Given the description of an element on the screen output the (x, y) to click on. 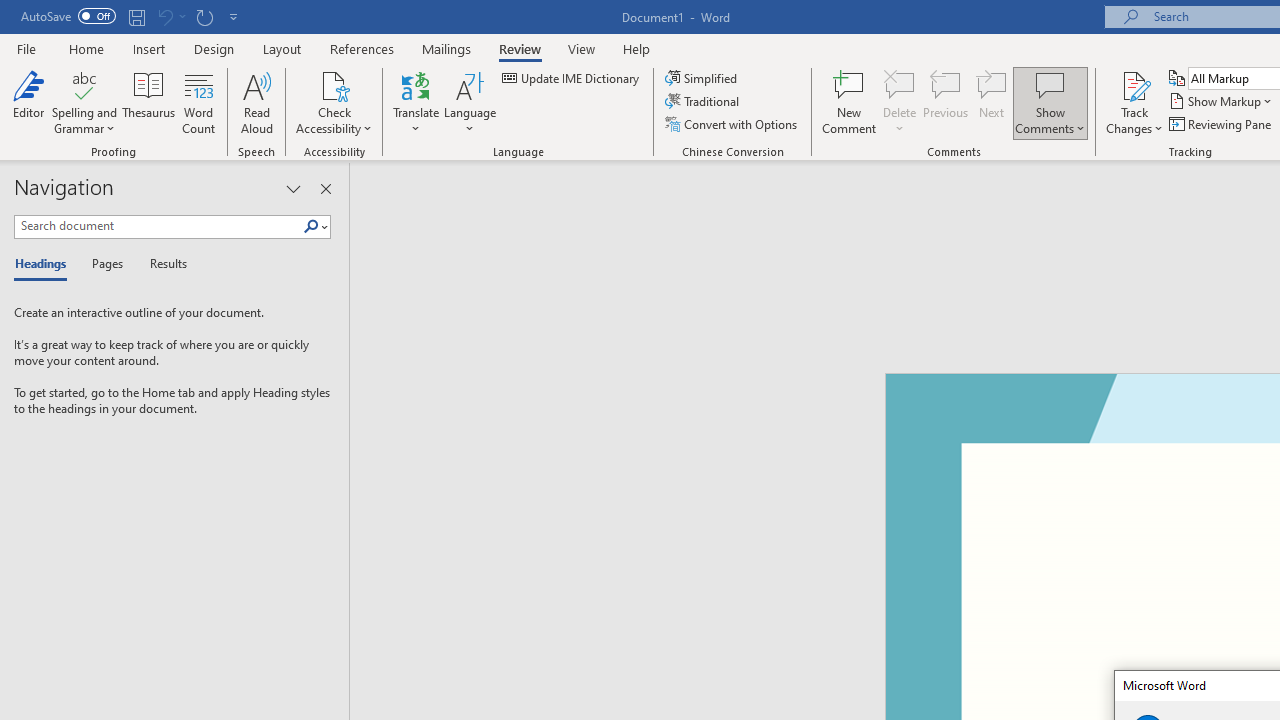
Delete (900, 84)
Track Changes (1134, 102)
Spelling and Grammar (84, 102)
Pages (105, 264)
Show Markup (1222, 101)
Simplified (702, 78)
